Given the description of an element on the screen output the (x, y) to click on. 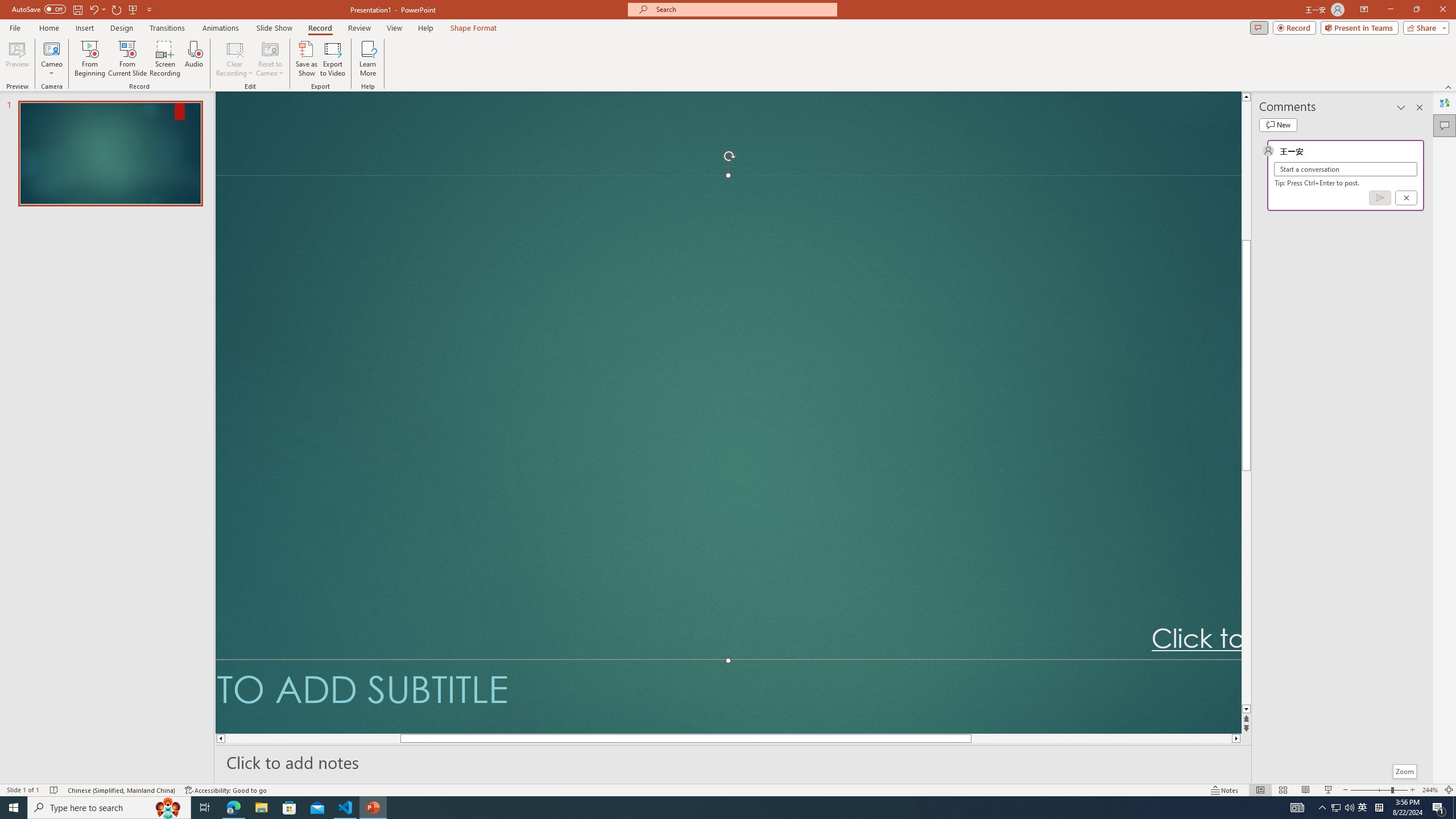
Clear Recording (234, 58)
Spell Check No Errors (54, 790)
Audio (193, 58)
Preview (17, 58)
Accessibility Checker Accessibility: Good to go (226, 790)
Page up (1245, 170)
